Given the description of an element on the screen output the (x, y) to click on. 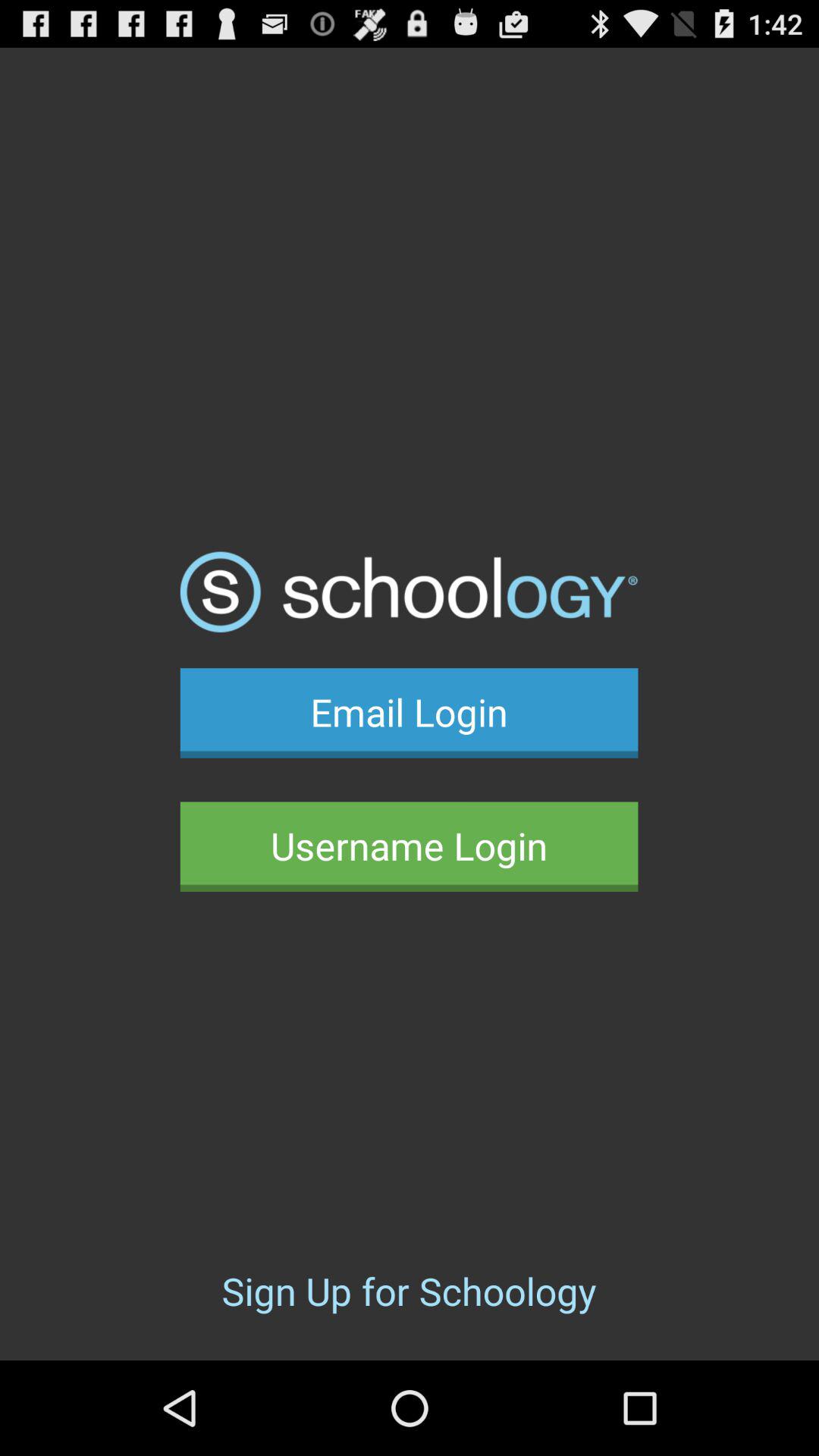
press item above username login (409, 713)
